Given the description of an element on the screen output the (x, y) to click on. 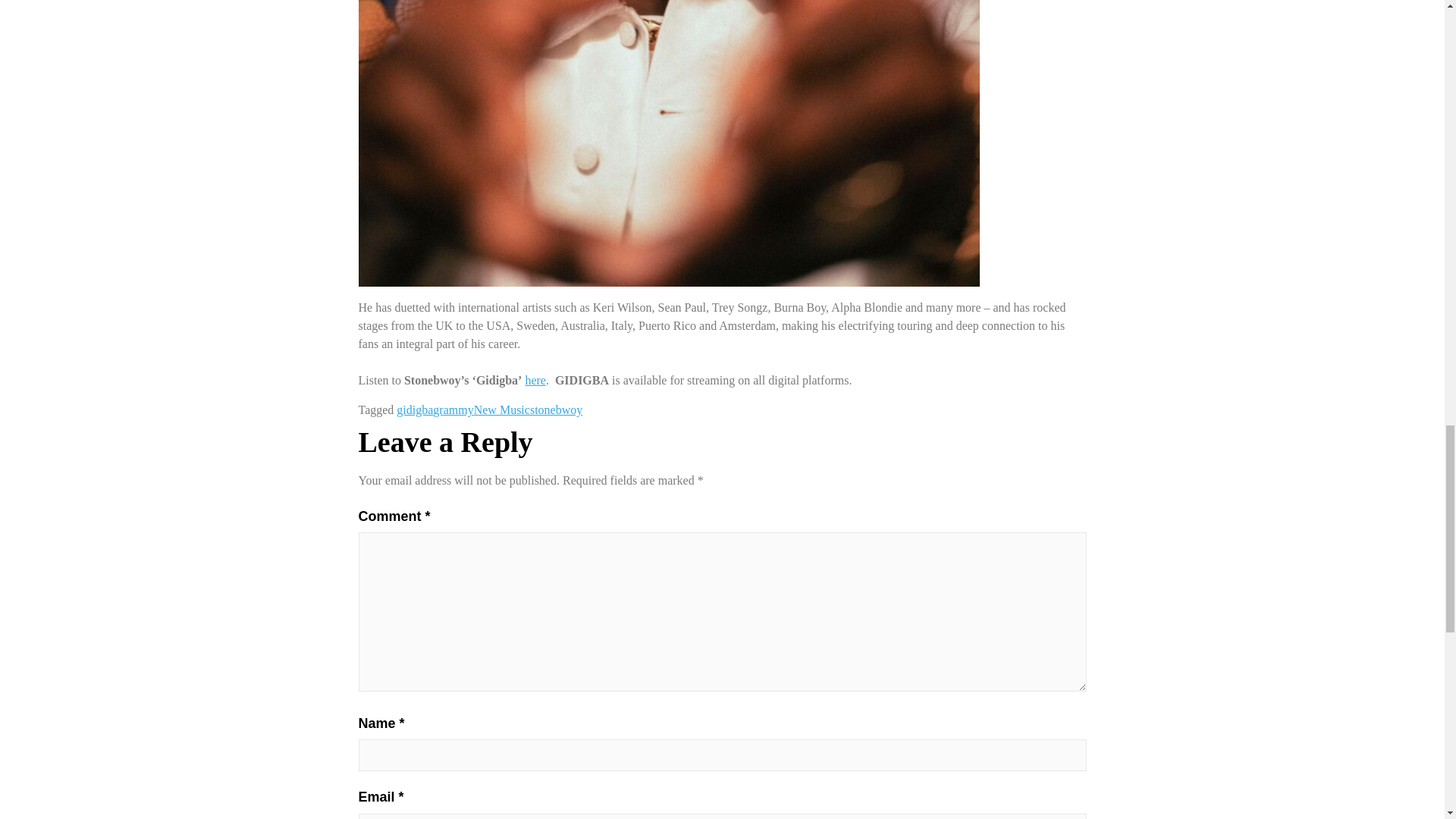
here (535, 379)
gidigba (414, 409)
New Music (501, 409)
stonebwoy (555, 409)
grammy (452, 409)
